Given the description of an element on the screen output the (x, y) to click on. 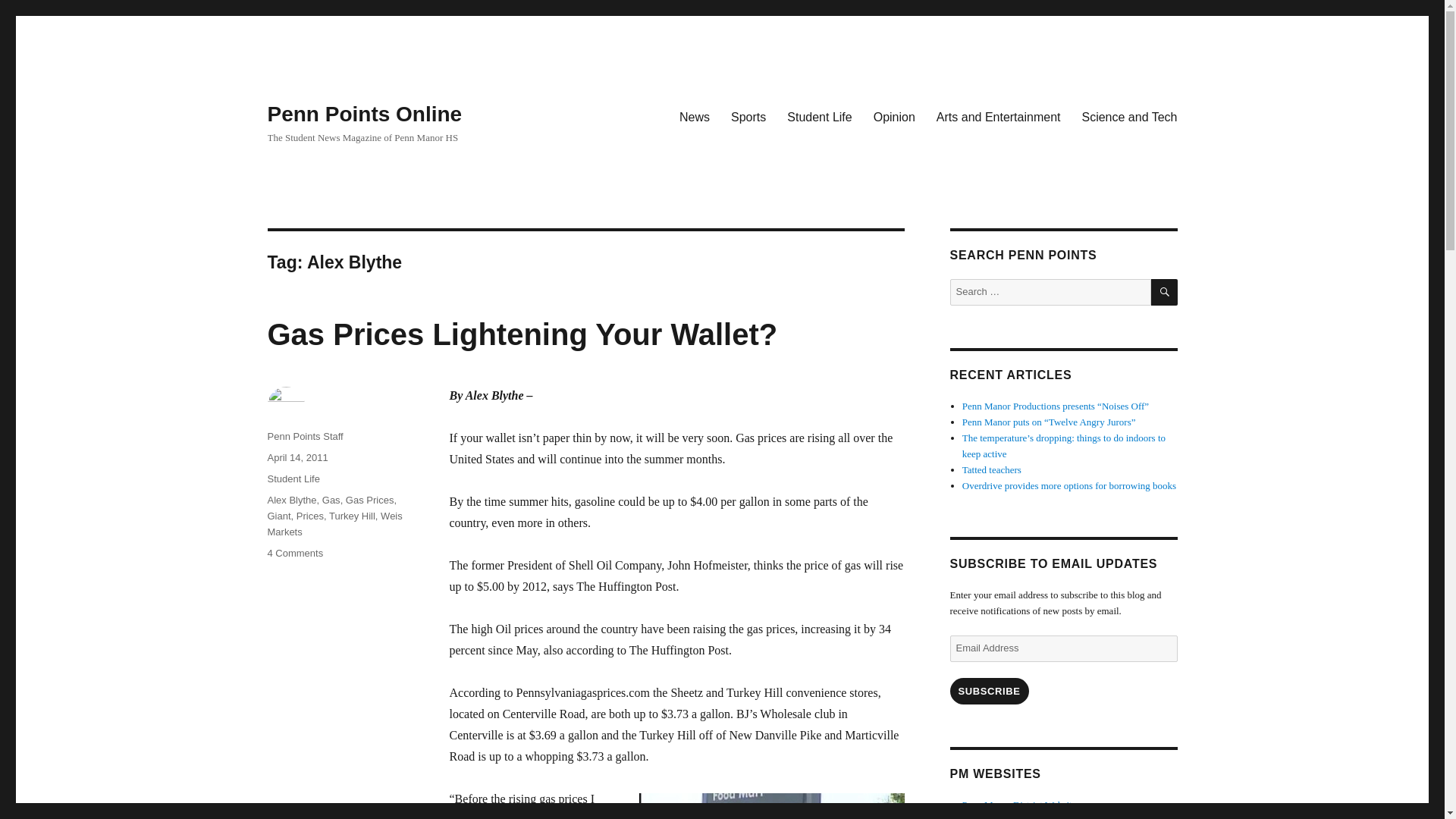
Tatted teachers (992, 469)
Arts and Entertainment (998, 116)
PM High School (1012, 816)
Penn Points Staff (304, 436)
Science and Tech (1129, 116)
Student Life (292, 478)
News (694, 116)
Gas (330, 500)
Gas Prices Lightening Your Wallet? (521, 334)
PM District Website (1019, 804)
Turkey Hill (352, 515)
Weis Markets (294, 552)
Prices (333, 523)
Gas Prices (310, 515)
